Given the description of an element on the screen output the (x, y) to click on. 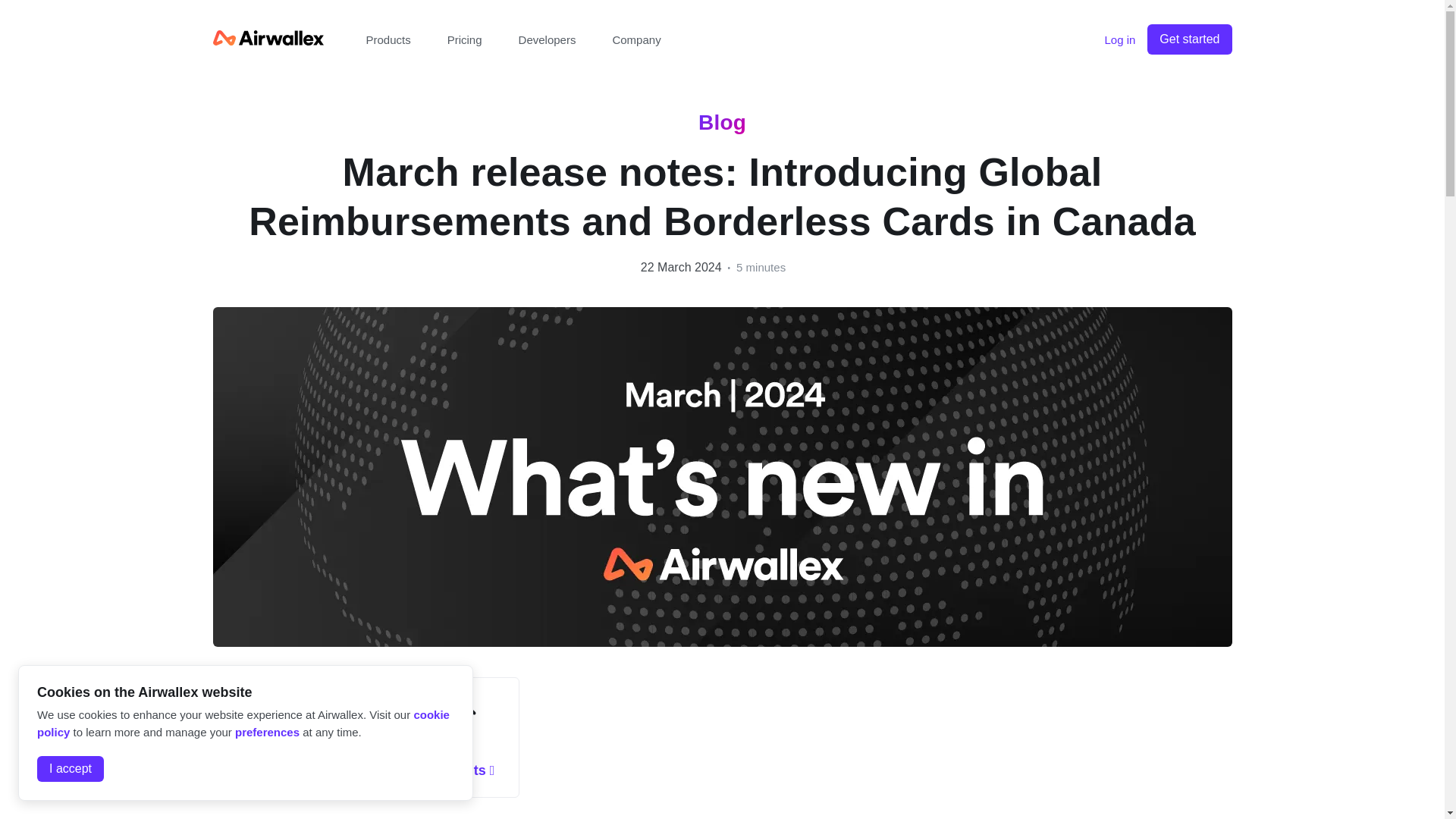
Products (387, 39)
Developers (547, 39)
Log in (1119, 39)
Company (636, 39)
